Given the description of an element on the screen output the (x, y) to click on. 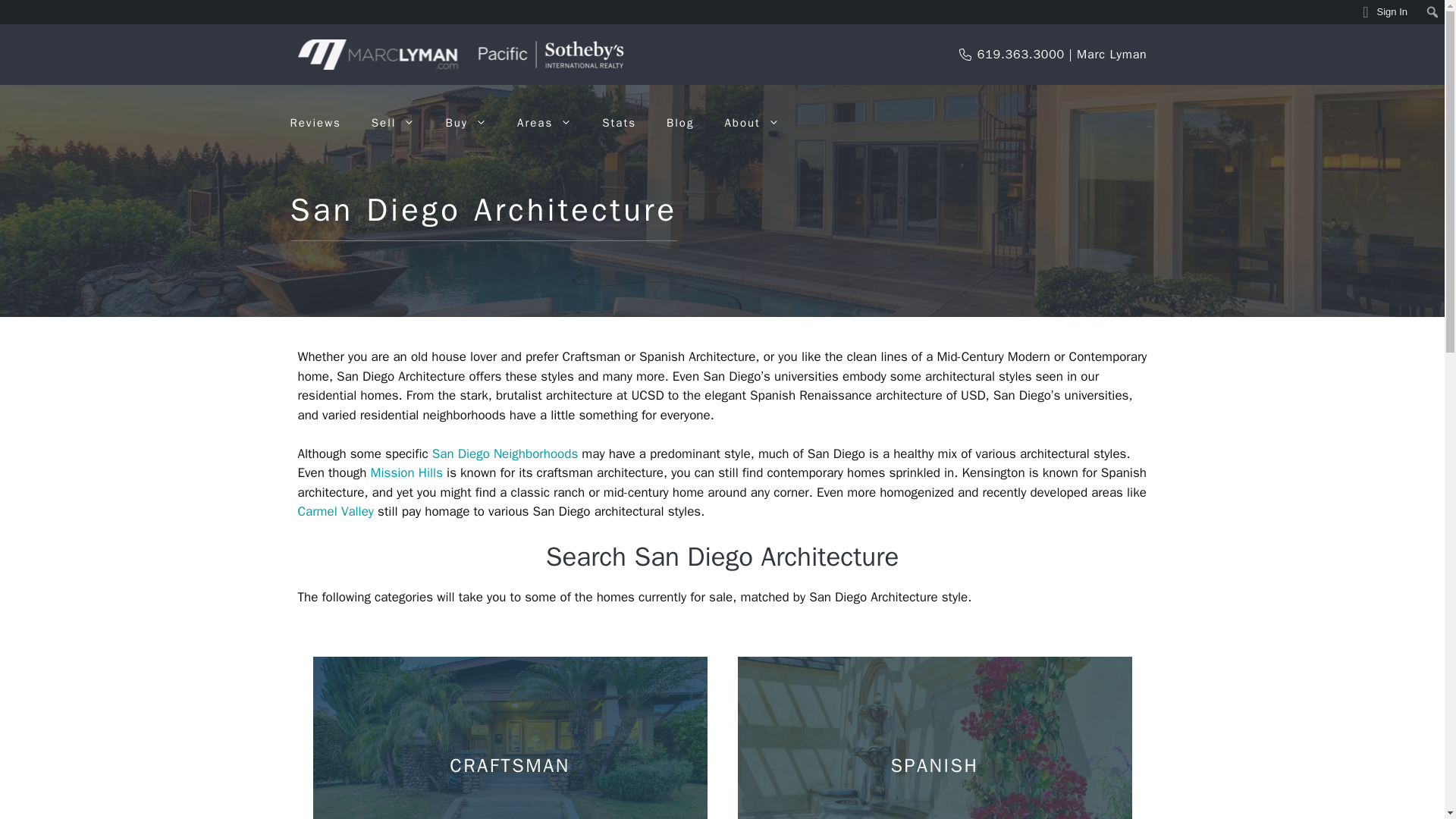
Areas (544, 122)
Buy (465, 122)
Sell (393, 122)
San Diego Neighborhoods (505, 453)
Sign In (1384, 12)
About (751, 122)
Carmel Valley (335, 511)
Search (16, 12)
Blog (679, 122)
Reviews (315, 122)
